Given the description of an element on the screen output the (x, y) to click on. 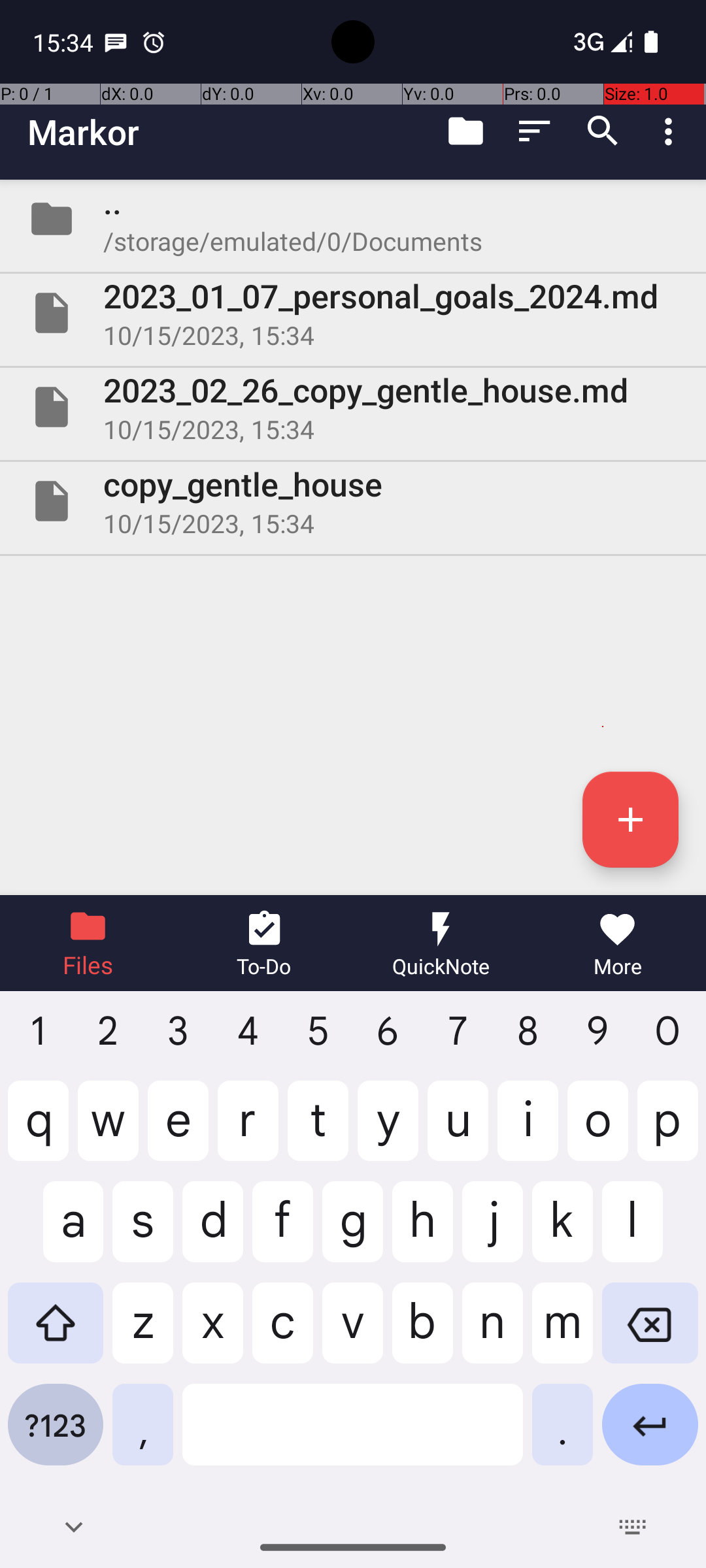
File 2023_01_07_personal_goals_2024.md  Element type: android.widget.LinearLayout (353, 312)
File 2023_02_26_copy_gentle_house.md  Element type: android.widget.LinearLayout (353, 406)
File copy_gentle_house  Element type: android.widget.LinearLayout (353, 500)
